Given the description of an element on the screen output the (x, y) to click on. 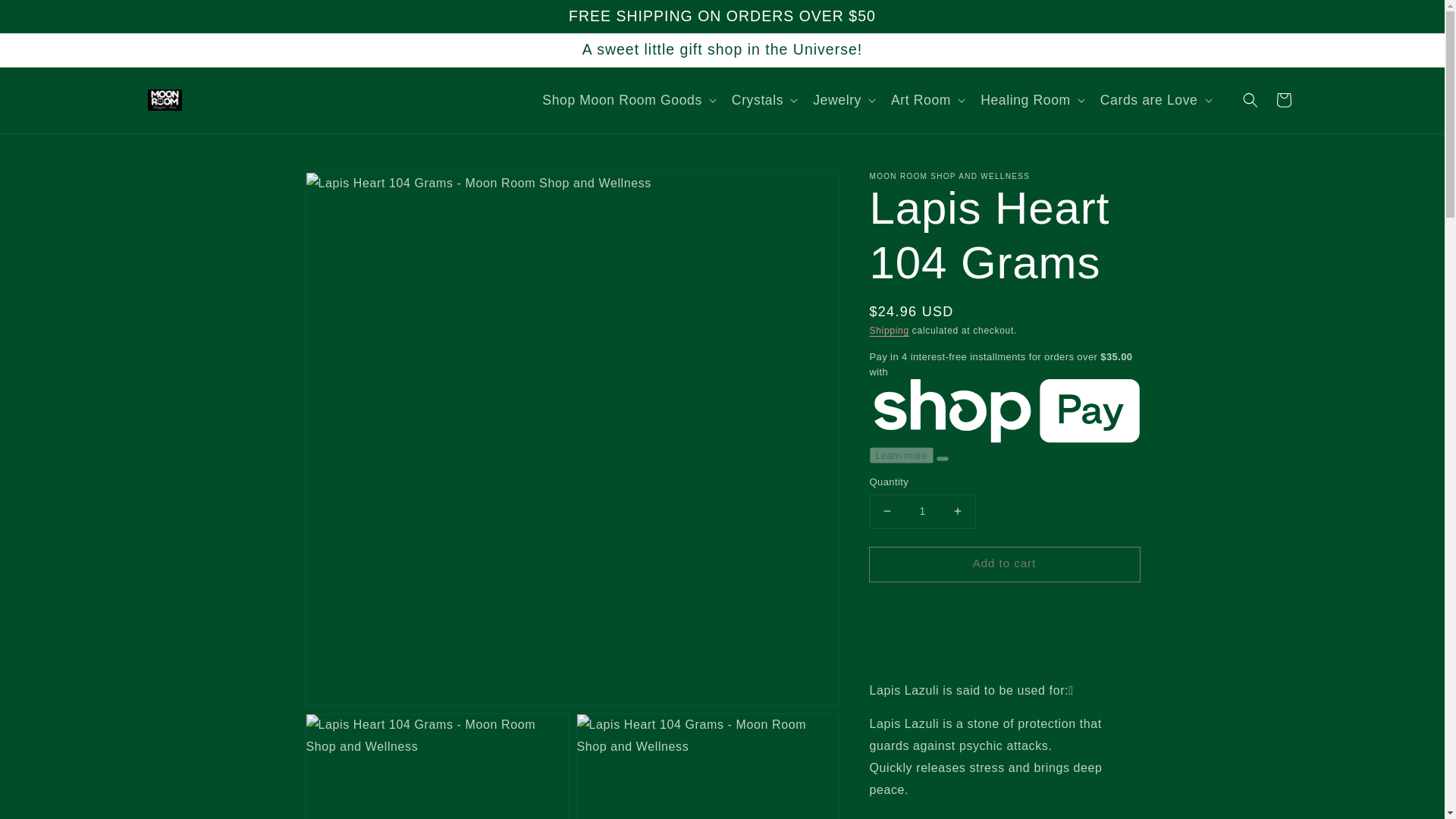
Skip to content (45, 16)
1 (922, 511)
